Given the description of an element on the screen output the (x, y) to click on. 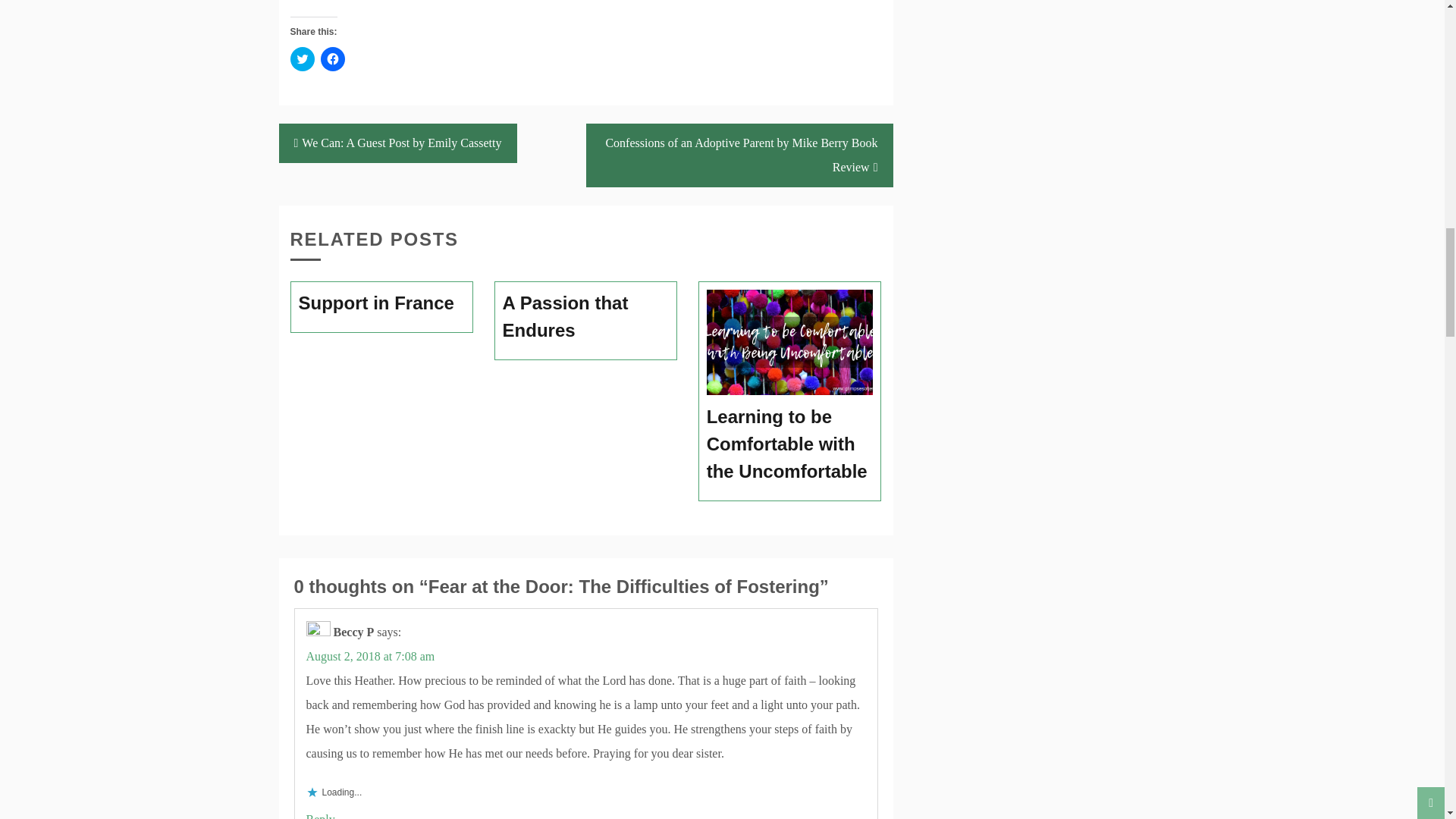
Click to share on Twitter (301, 58)
Click to share on Facebook (331, 58)
